Given the description of an element on the screen output the (x, y) to click on. 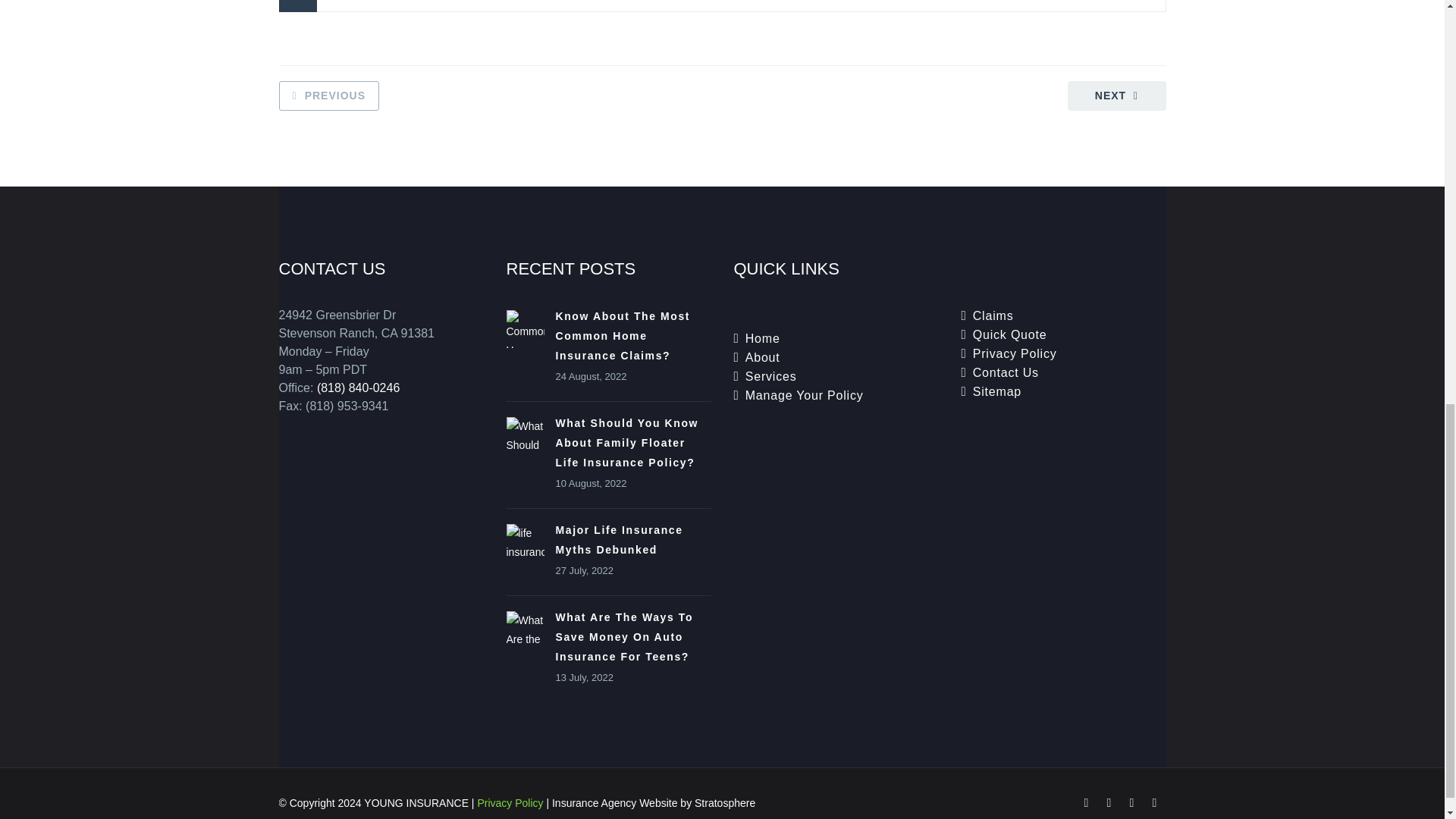
Home (762, 338)
PREVIOUS (328, 95)
NEXT (1116, 95)
Manage Your Policy (804, 395)
Services (770, 376)
Major Life Insurance Myths Debunked (618, 540)
Know About The Most Common Home Insurance Claims? (622, 335)
What Are The Ways To Save Money On Auto Insurance For Teens? (623, 636)
About (762, 357)
